Given the description of an element on the screen output the (x, y) to click on. 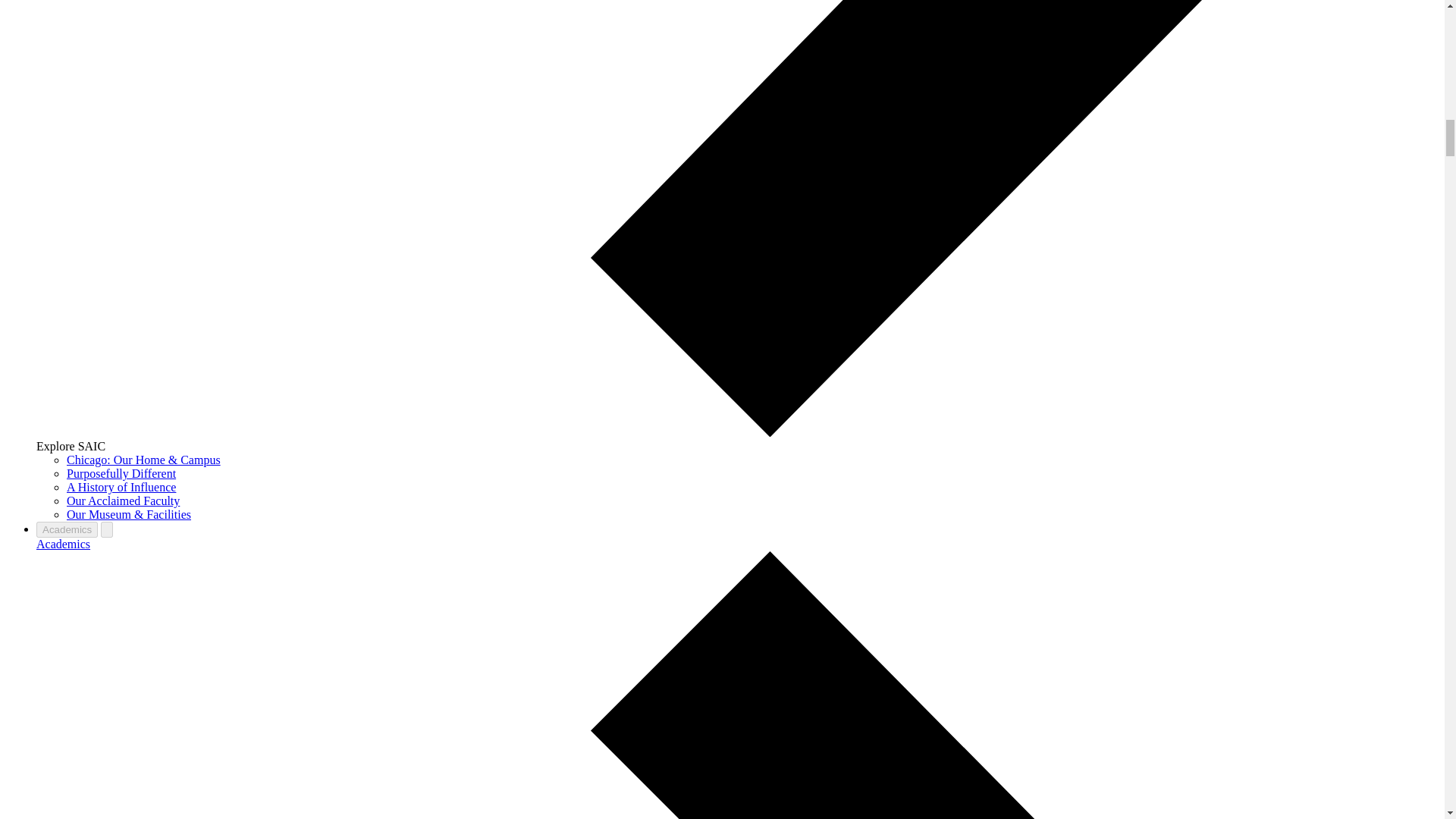
Academics (66, 529)
Academics (63, 543)
Our Acclaimed Faculty (122, 500)
Purposefully Different (121, 472)
A History of Influence (121, 486)
